Given the description of an element on the screen output the (x, y) to click on. 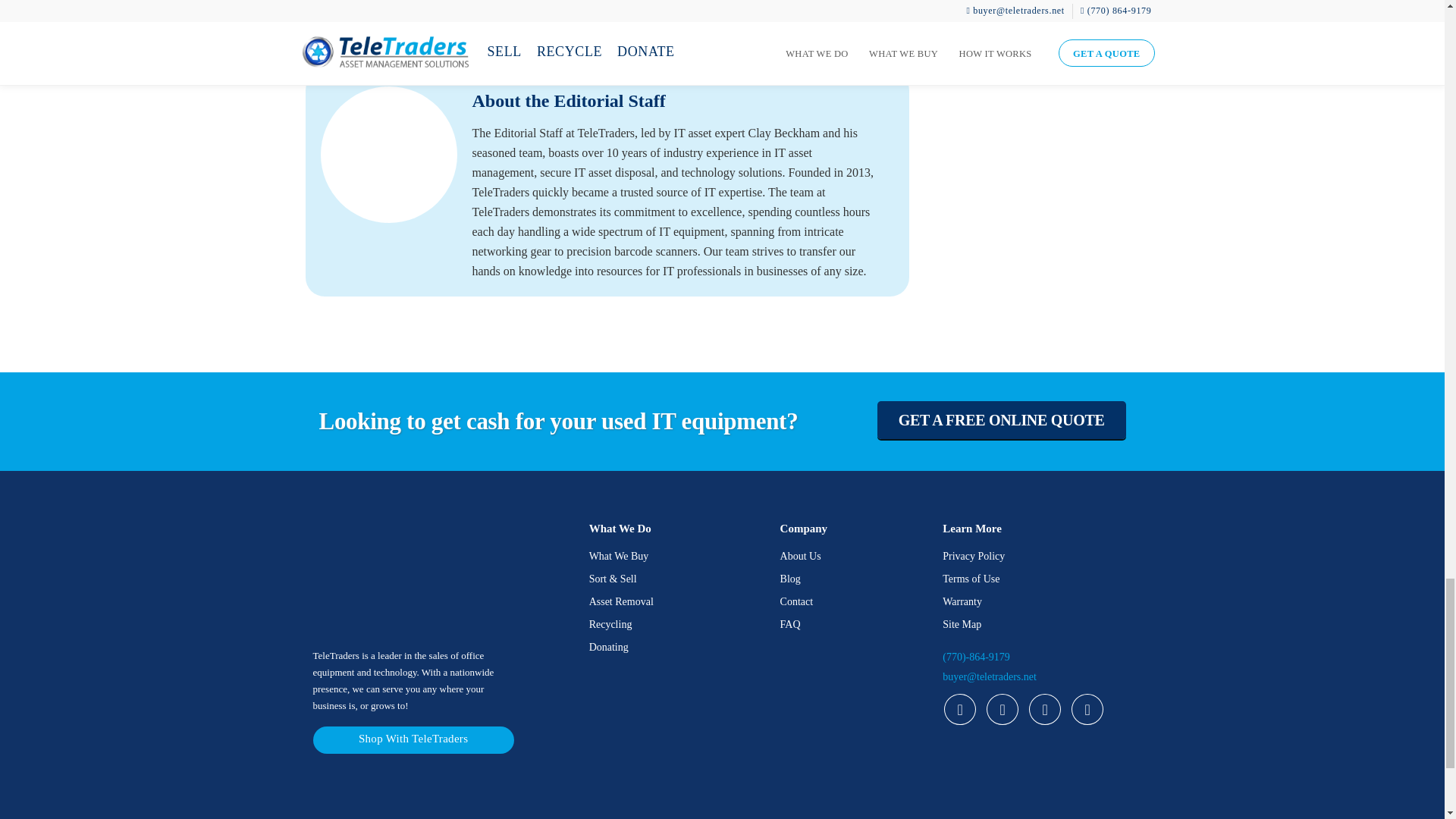
TeleTraders (616, 794)
TeleTraders (1036, 794)
GET A FREE ONLINE QUOTE (1001, 419)
TeleTraders (406, 794)
TeleTraders (826, 794)
BACK (360, 35)
TeleTraders (388, 576)
